Given the description of an element on the screen output the (x, y) to click on. 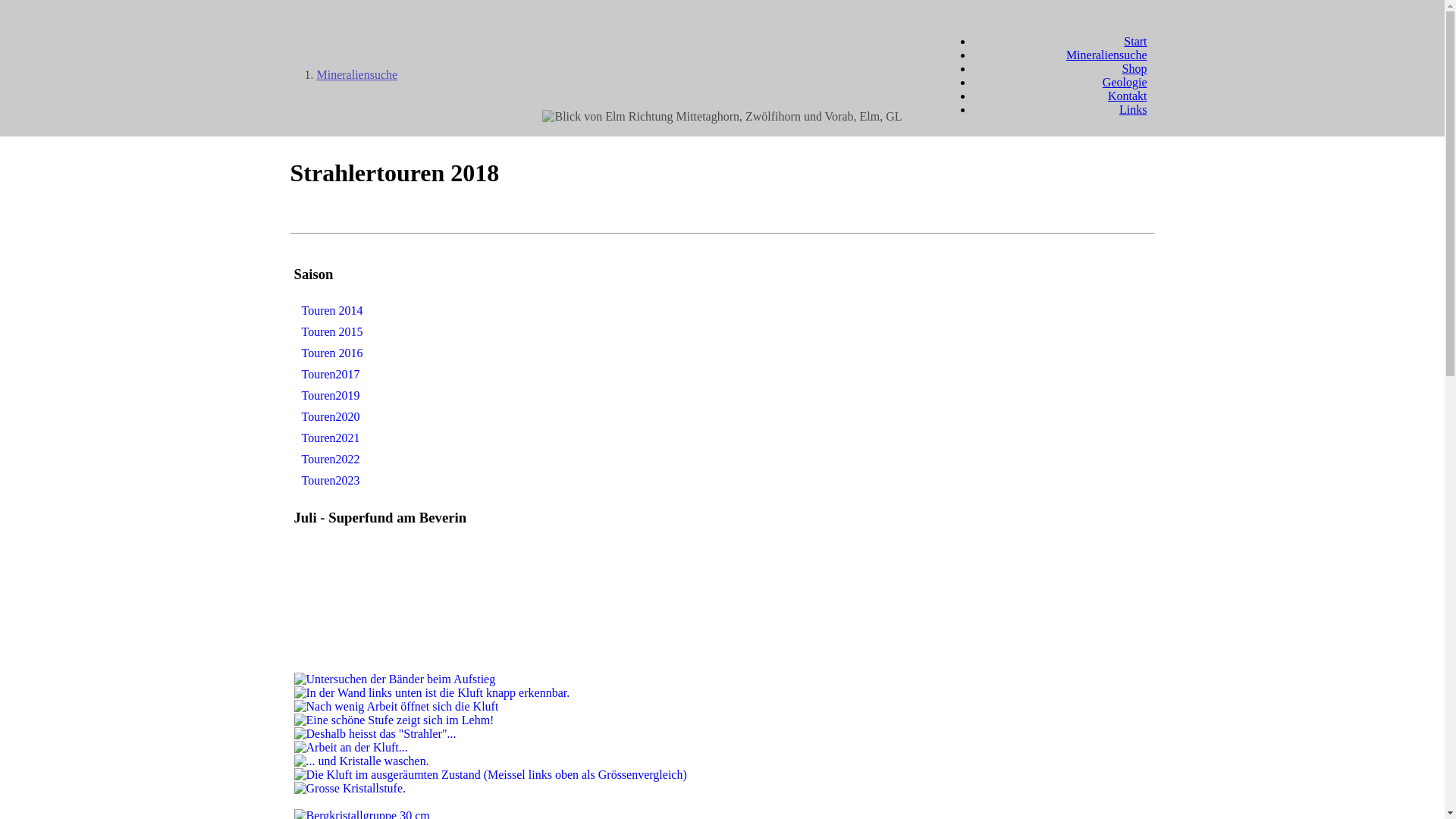
Touren 2014 Element type: text (332, 310)
Mineraliensuche Element type: text (357, 74)
Touren 2016 Element type: text (332, 352)
Touren 2015 Element type: text (332, 331)
Touren2017 Element type: text (330, 374)
Touren2023 Element type: text (330, 480)
Touren2020 Element type: text (330, 416)
Shop Element type: text (1134, 68)
Geologie Element type: text (1124, 82)
Links Element type: text (1132, 109)
Touren2019 Element type: text (330, 395)
Touren2021 Element type: text (330, 437)
Mineraliensuche Element type: text (1106, 54)
Start Element type: text (1135, 41)
Kontakt Element type: text (1127, 95)
Touren2022 Element type: text (330, 458)
